Given the description of an element on the screen output the (x, y) to click on. 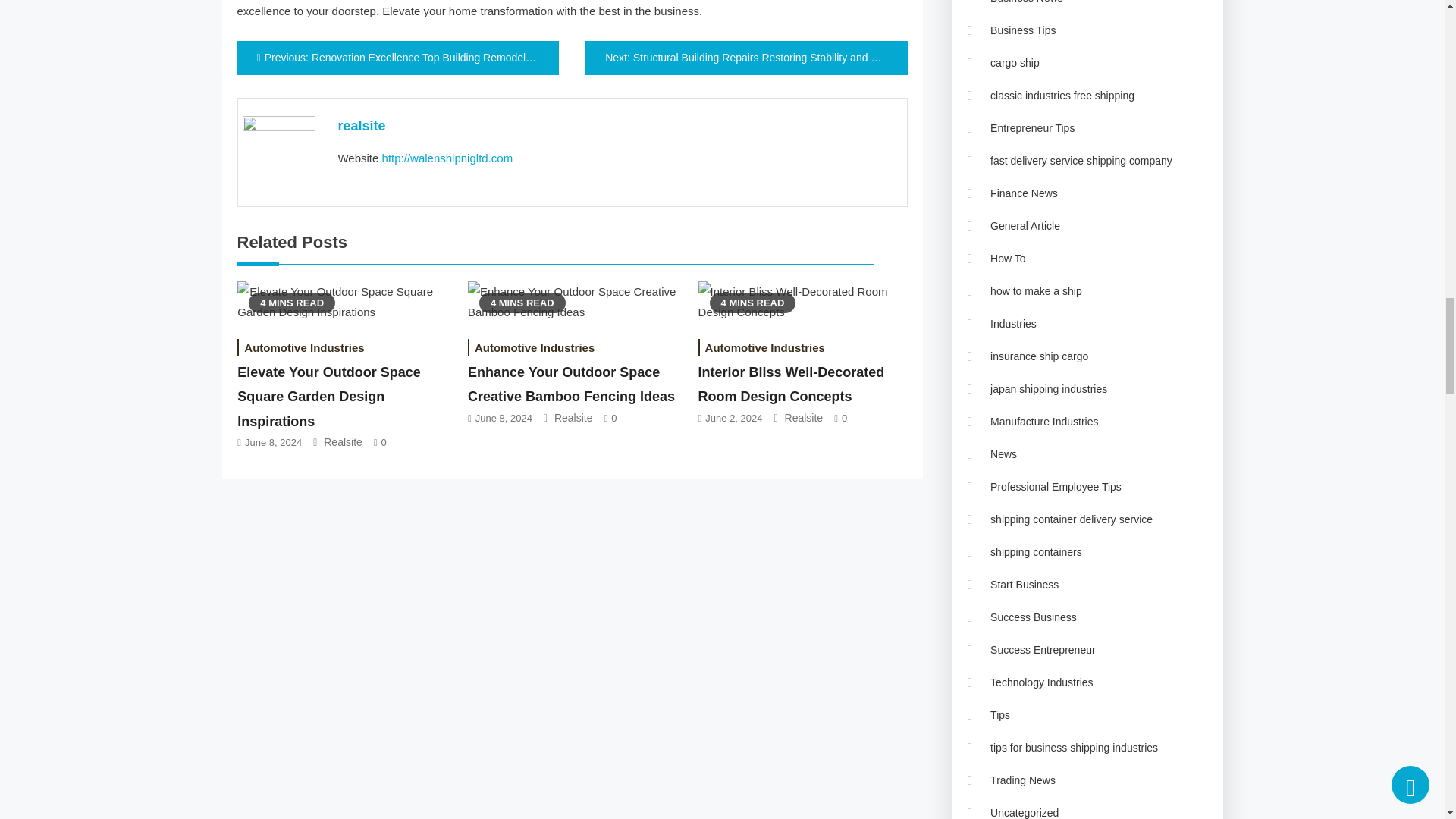
Posts by realsite (361, 125)
Interior Bliss Well-Decorated Room Design Concepts (802, 301)
Elevate Your Outdoor Space Square Garden Design Inspirations (341, 301)
Enhance Your Outdoor Space Creative Bamboo Fencing Ideas (572, 301)
